Given the description of an element on the screen output the (x, y) to click on. 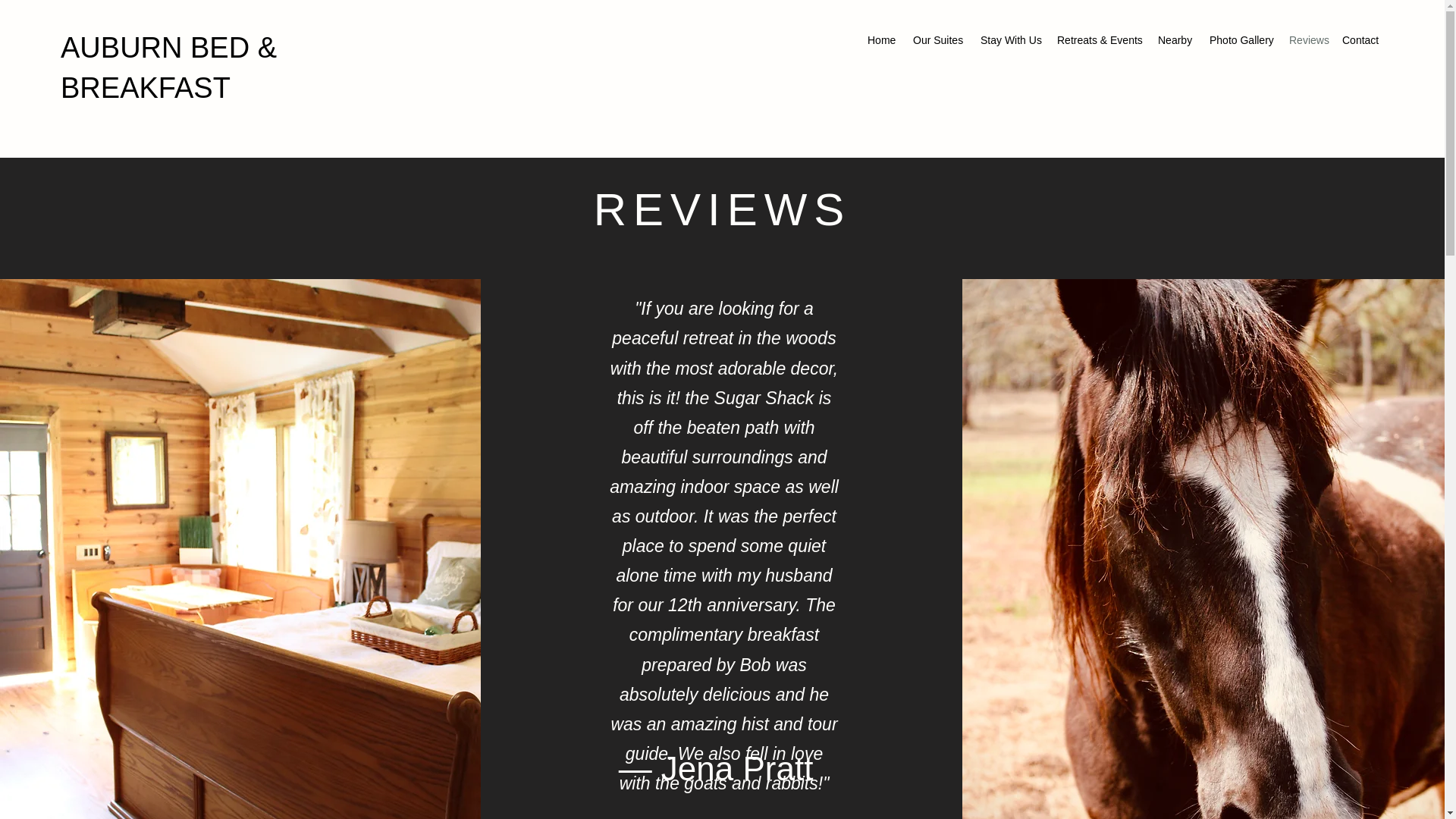
Home (882, 39)
Nearby (1176, 39)
Photo Gallery (1241, 39)
Reviews (1308, 39)
Stay With Us (1010, 39)
Our Suites (938, 39)
Contact (1362, 39)
